Given the description of an element on the screen output the (x, y) to click on. 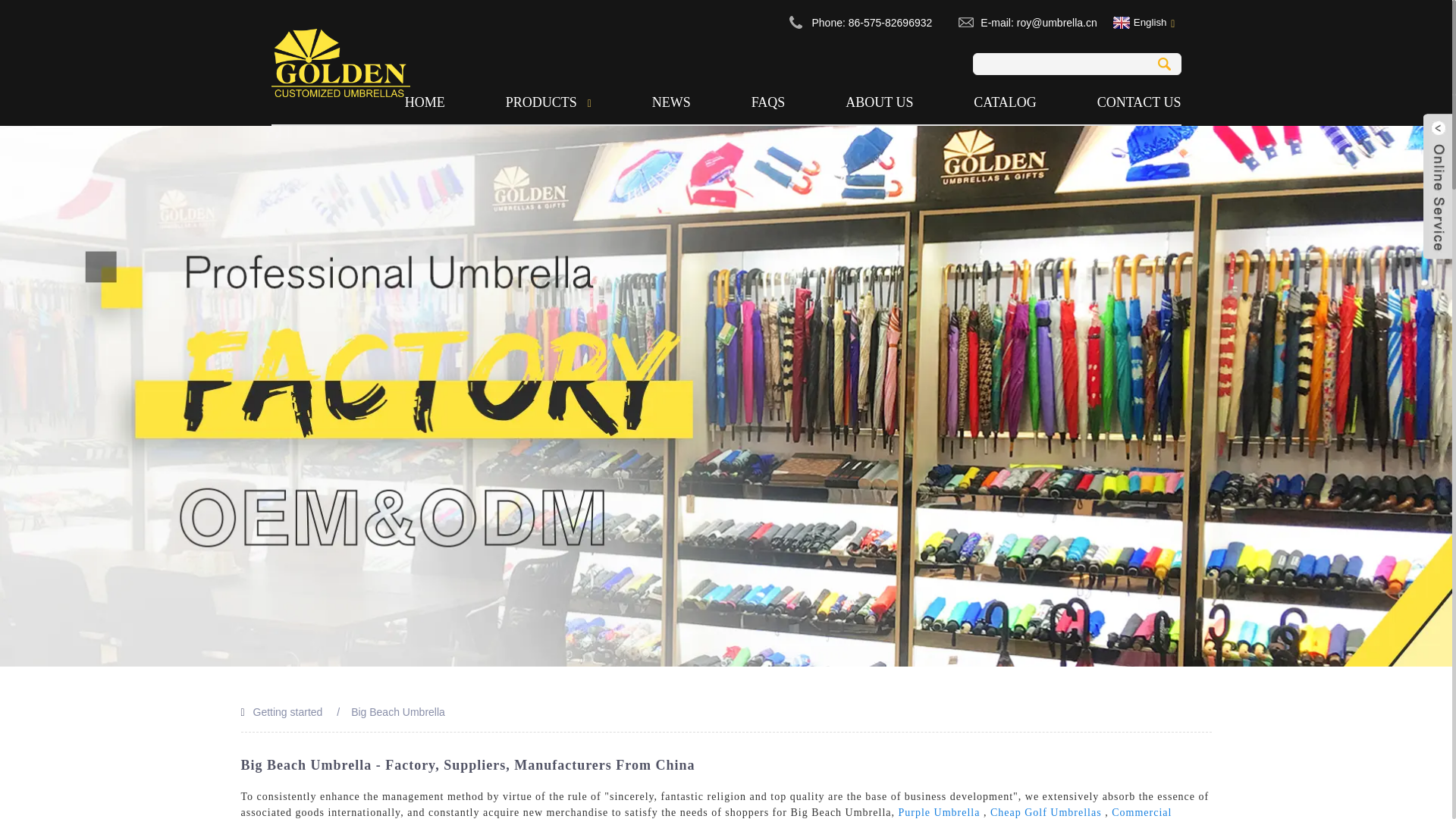
CATALOG (1004, 102)
Cheap Golf Umbrellas (1046, 812)
Commercial Parasol (706, 812)
ABOUT US (879, 102)
Commercial Parasol (706, 812)
Purple Umbrella (938, 812)
FAQS (767, 102)
PRODUCTS (548, 102)
Phone: 86-575-82696932 (870, 22)
CONTACT US (1124, 102)
